Given the description of an element on the screen output the (x, y) to click on. 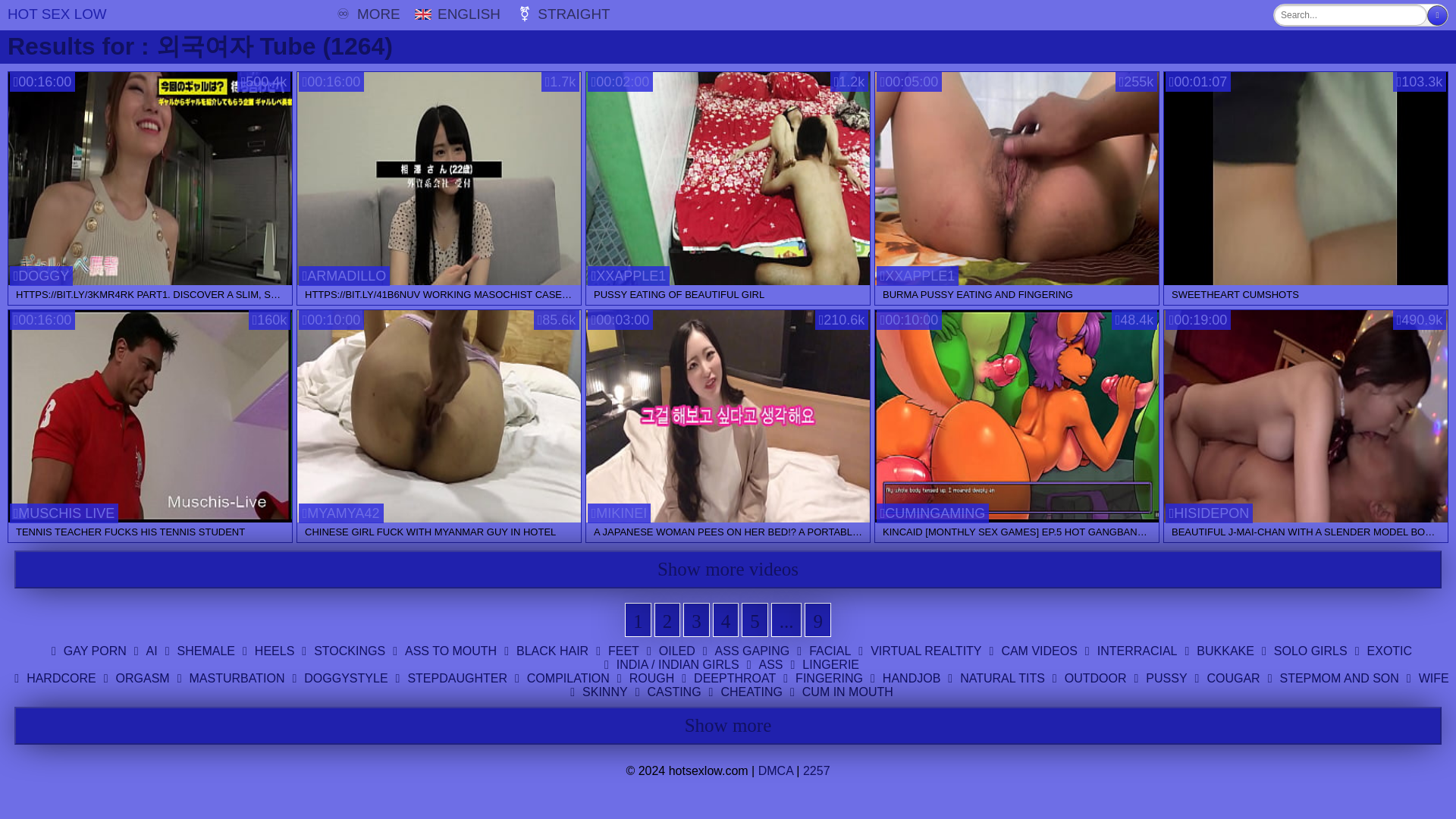
pussy eating of beautiful girl (727, 178)
sweetheart cumshots (1305, 178)
MORE (352, 13)
Chinese girl fuck with Myanmar guy in hotel (438, 415)
Tennis teacher fucks his tennis student (150, 415)
ENGLISH (453, 13)
HOT SEX LOW (63, 15)
STRAIGHT (558, 13)
Burma pussy eating and fingering (1016, 178)
